Given the description of an element on the screen output the (x, y) to click on. 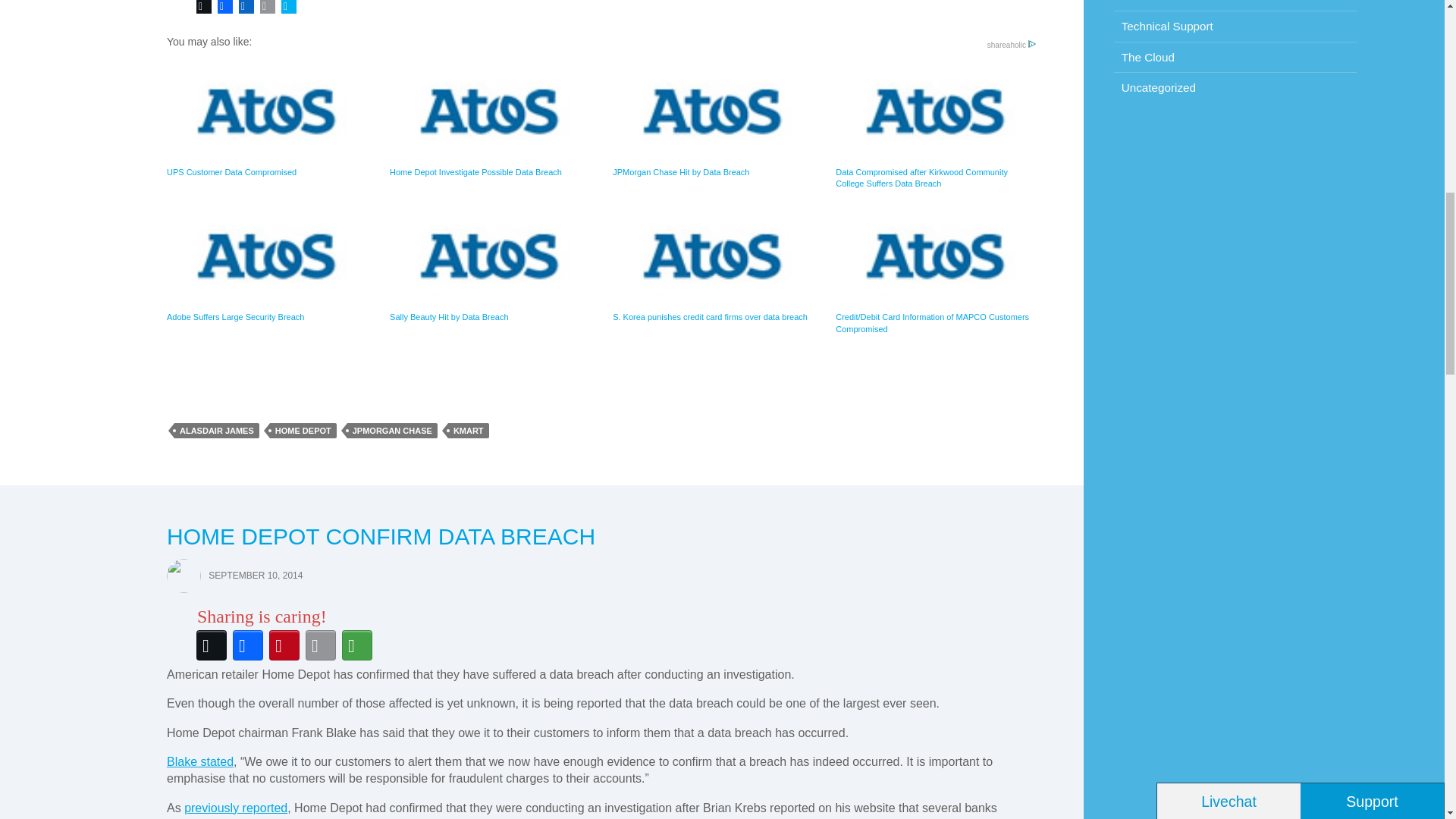
PrintFriendly (288, 8)
Home Depot Investigate Possible Data Breach (489, 119)
Email This (267, 8)
Facebook (224, 8)
UPS Customer Data Compromised (266, 119)
Sally Beauty Hit by Data Breach (489, 264)
Adobe Suffers Large Security Breach (266, 264)
JPMorgan Chase Hit by Data Breach (712, 119)
LinkedIn (246, 8)
